Given the description of an element on the screen output the (x, y) to click on. 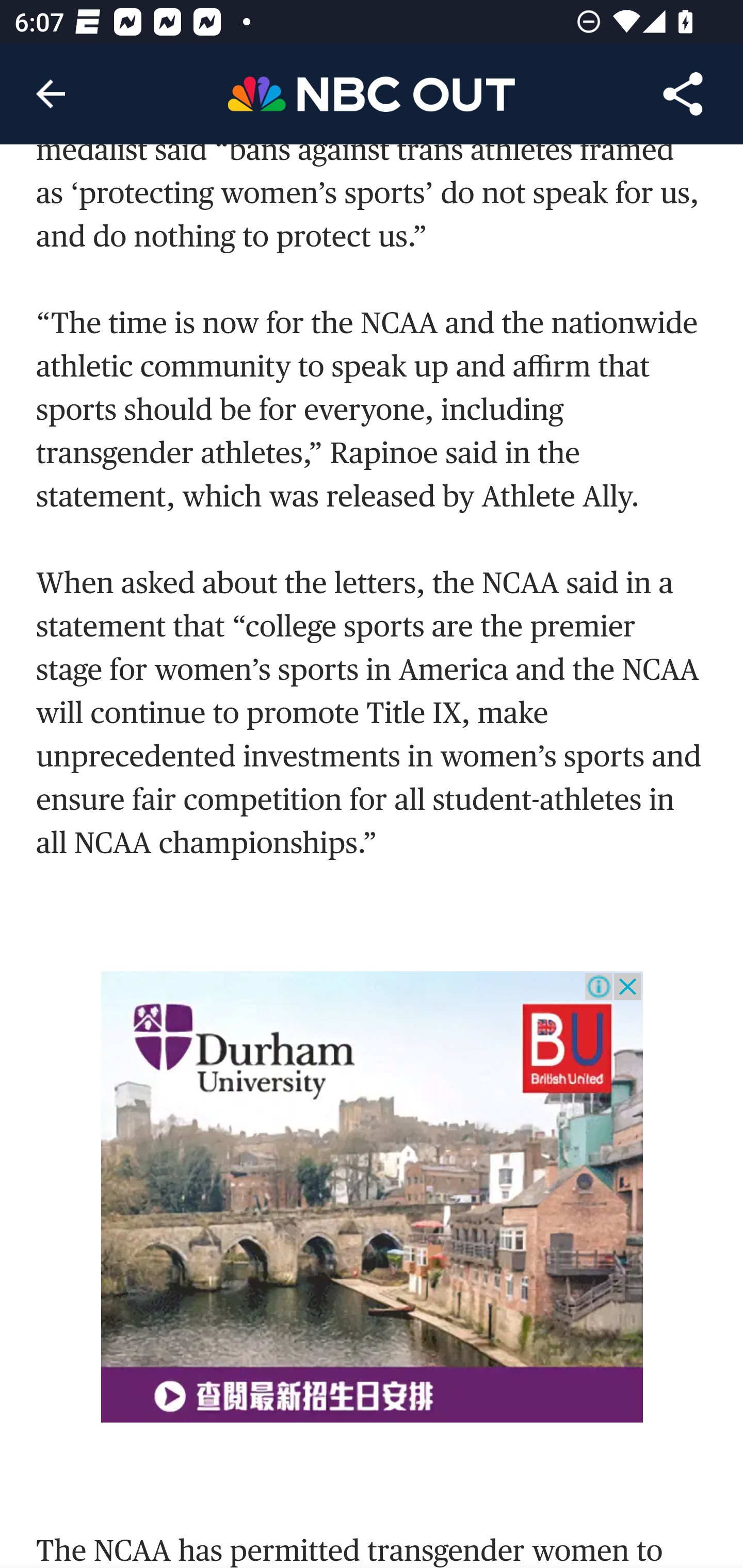
Navigate up (50, 93)
Share Article, button (683, 94)
Header, NBC Out (371, 93)
